Given the description of an element on the screen output the (x, y) to click on. 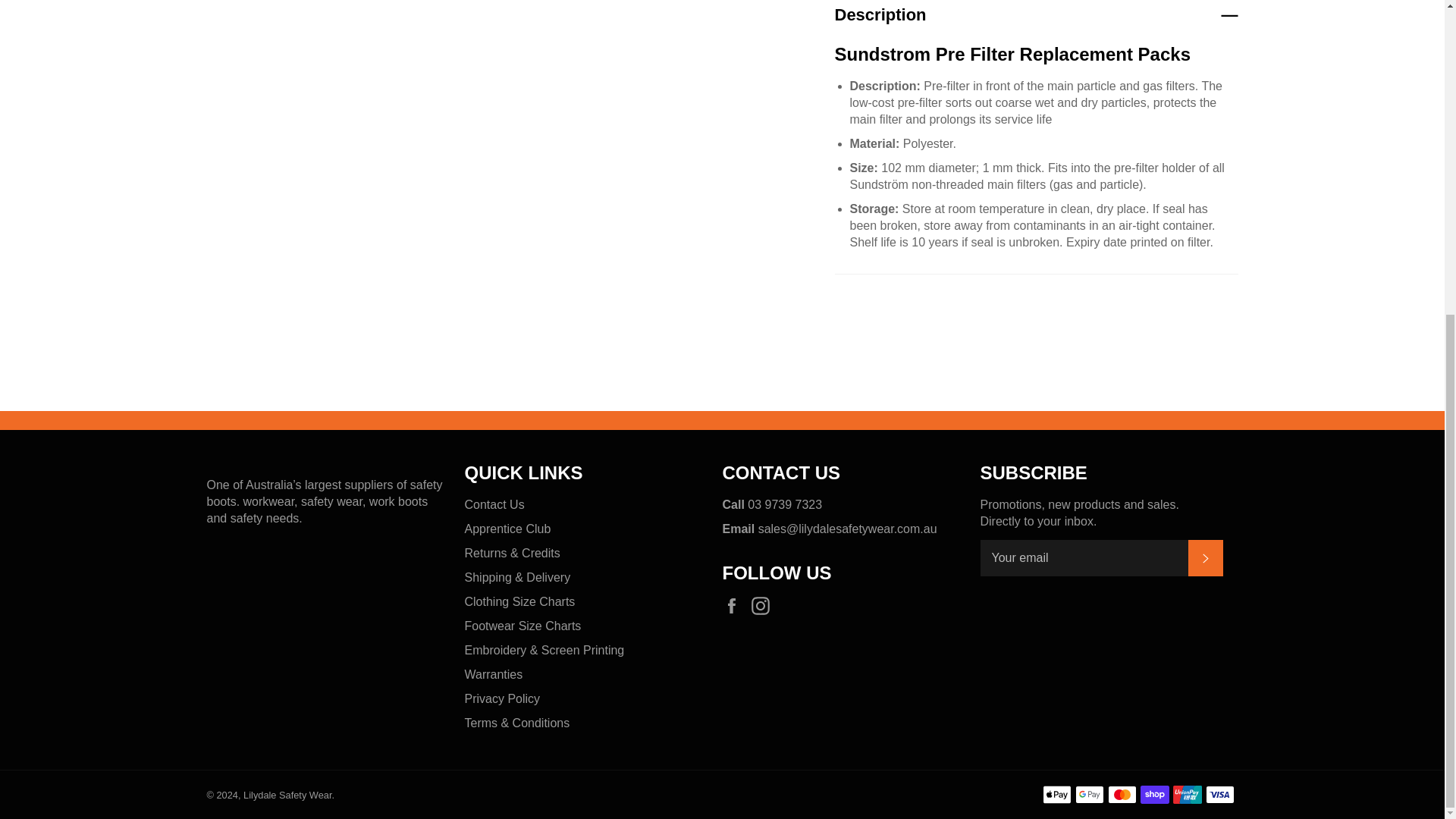
Lilydale Safety Wear on Instagram (764, 606)
Lilydale Safety Wear on Facebook (735, 606)
